Given the description of an element on the screen output the (x, y) to click on. 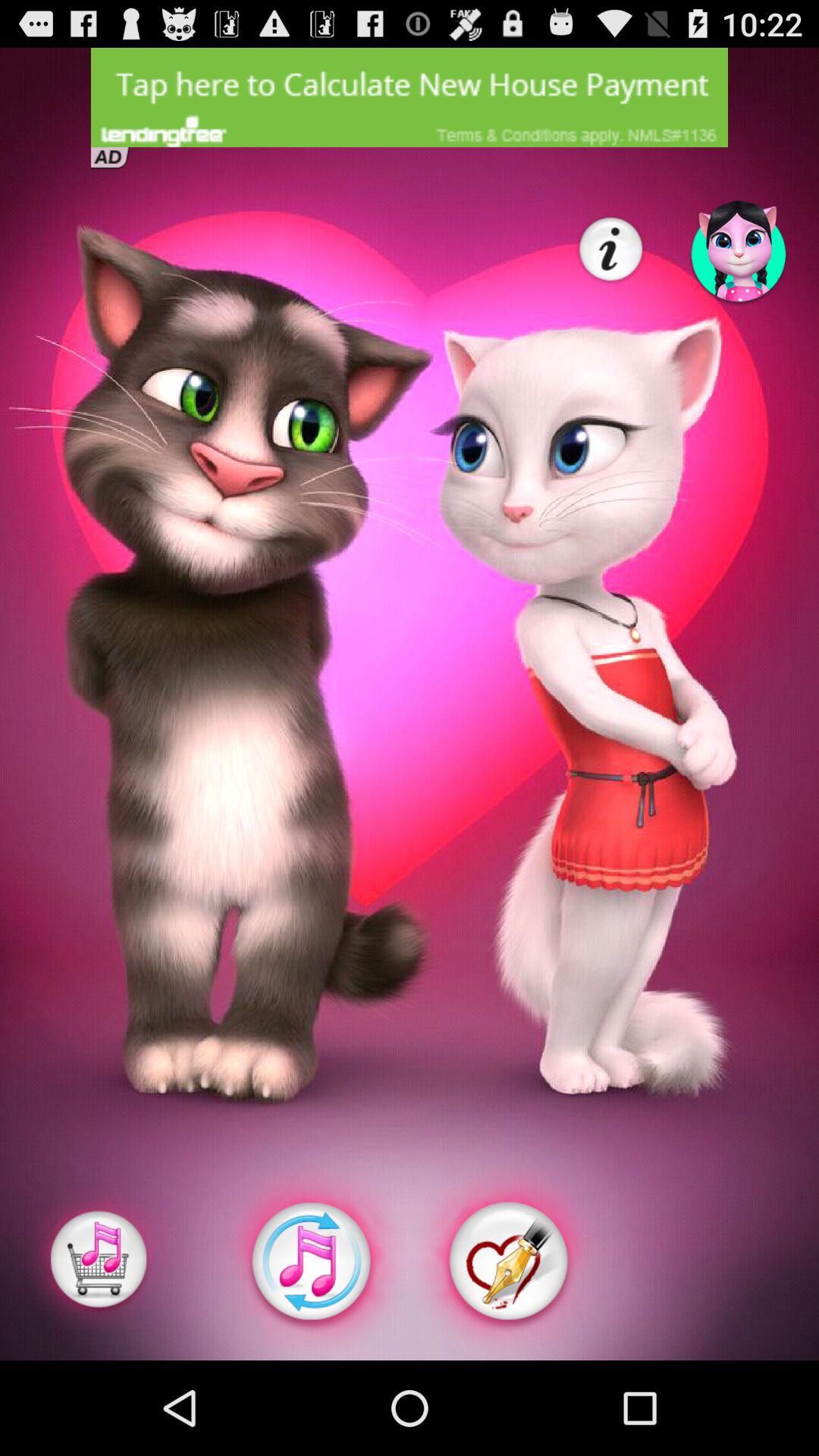
click item (98, 1261)
